Given the description of an element on the screen output the (x, y) to click on. 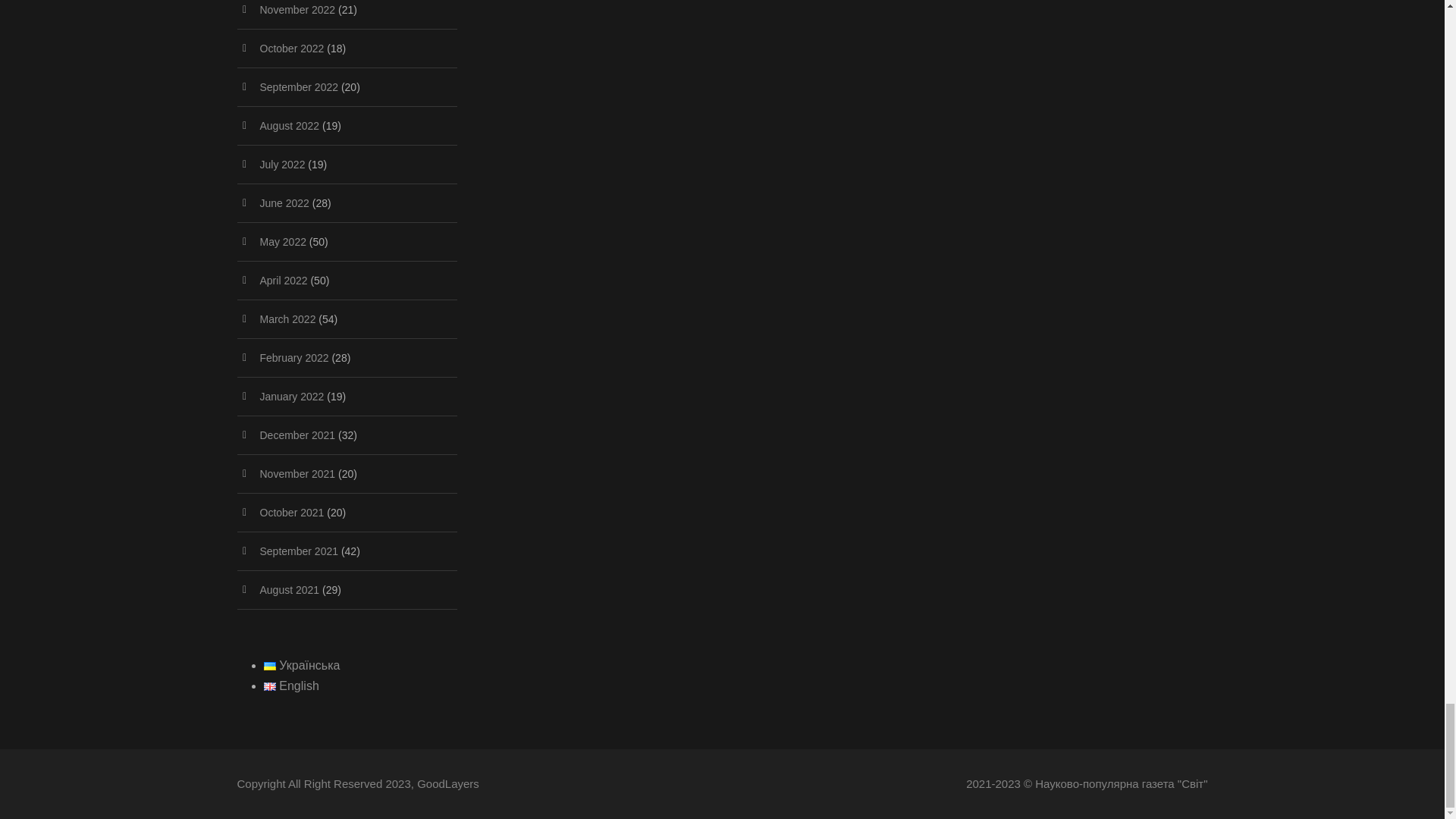
August 2022 (288, 125)
September 2022 (298, 87)
November 2022 (296, 9)
October 2022 (291, 48)
